Given the description of an element on the screen output the (x, y) to click on. 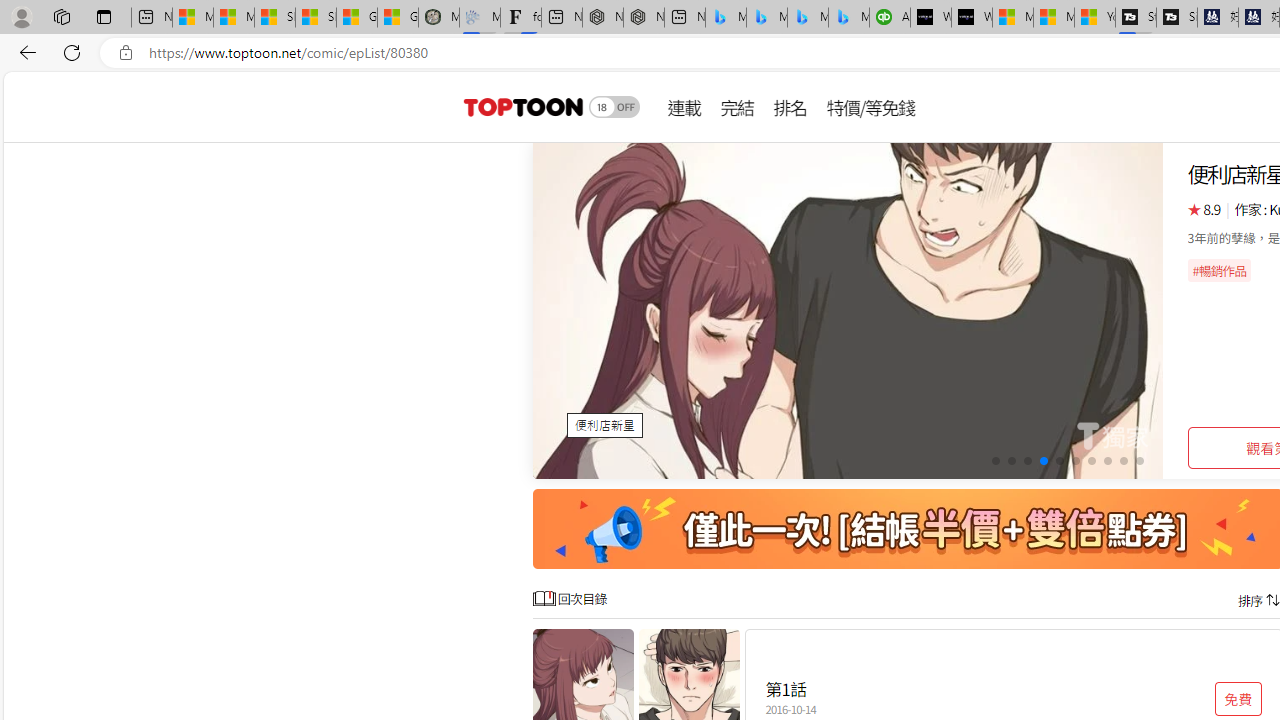
Go to slide 8 (1107, 461)
View site information (125, 53)
Go to slide 5 (1058, 461)
Go to slide 4 (1043, 461)
Class: swiper-slide swiper-slide-next (847, 310)
Go to slide 10 (1139, 461)
Microsoft Bing Travel - Stays in Bangkok, Bangkok, Thailand (767, 17)
Manatee Mortality Statistics | FWC (438, 17)
What's the best AI voice generator? - voice.ai (971, 17)
